Given the description of an element on the screen output the (x, y) to click on. 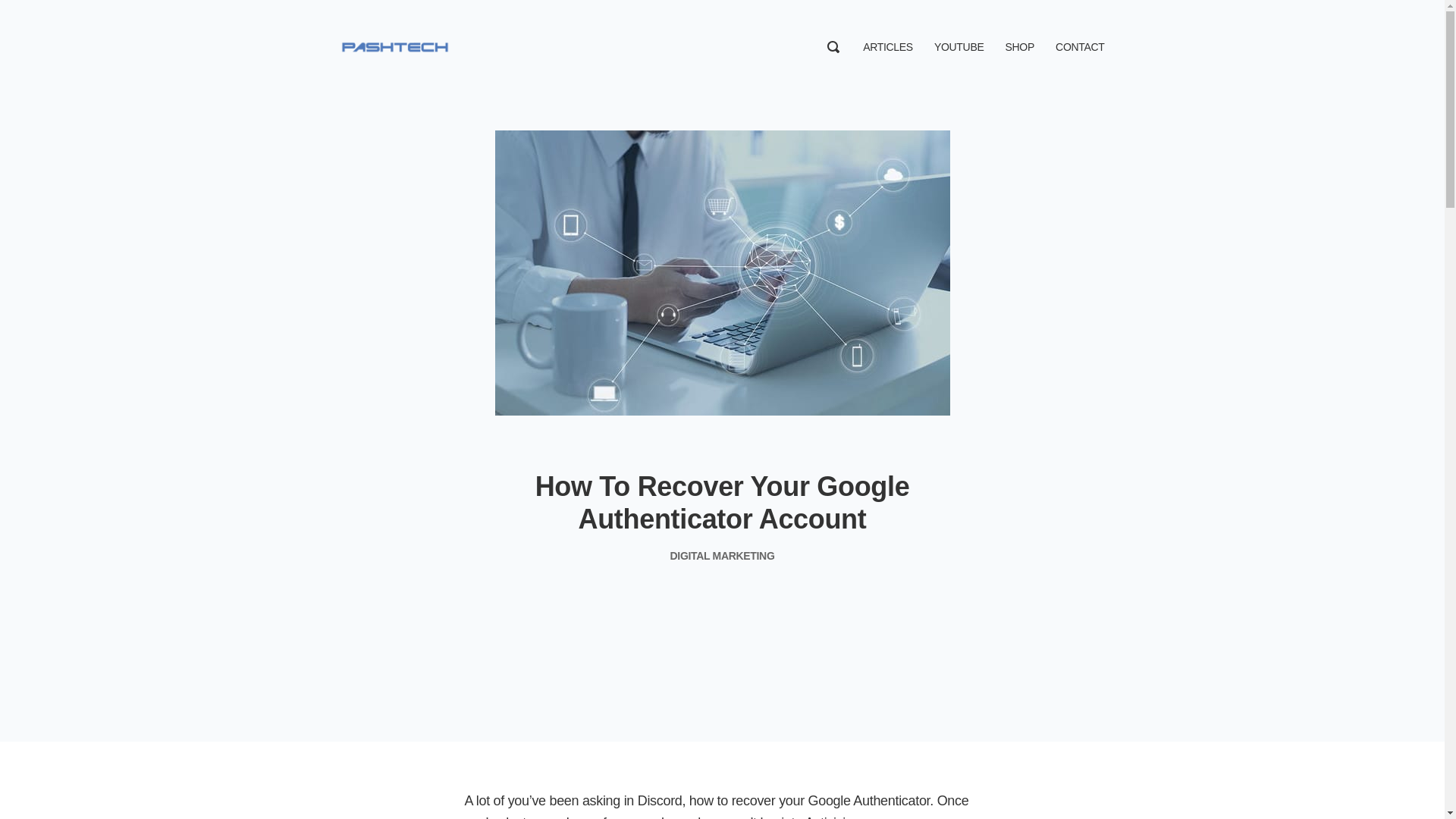
ARTICLES (887, 47)
SHOP (1019, 47)
Advertisement (721, 640)
CONTACT (1079, 47)
YOUTUBE (959, 47)
